Given the description of an element on the screen output the (x, y) to click on. 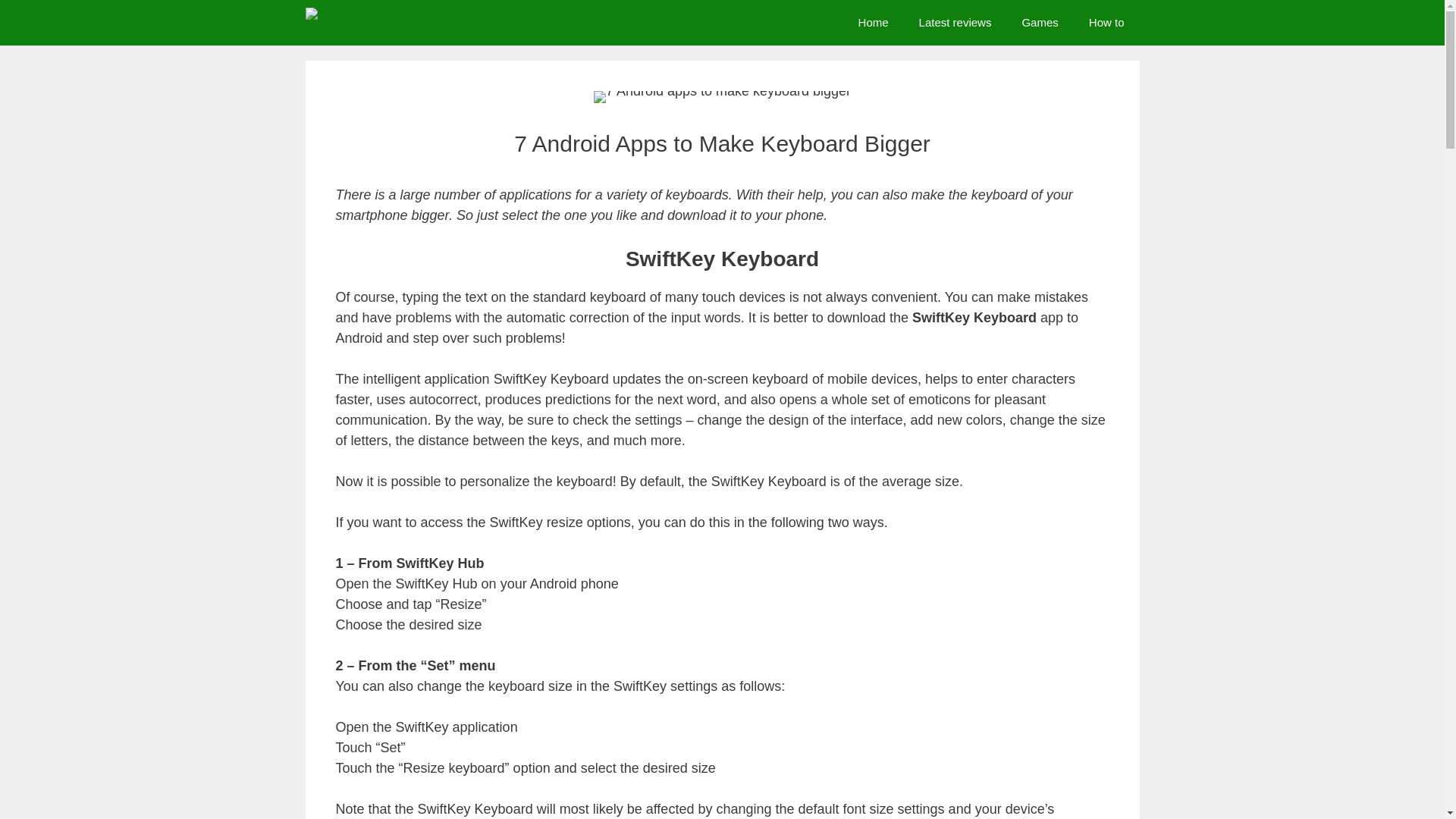
Games (1039, 22)
Home (873, 22)
Home (873, 22)
How to (1107, 22)
Latest reviews (955, 22)
